Given the description of an element on the screen output the (x, y) to click on. 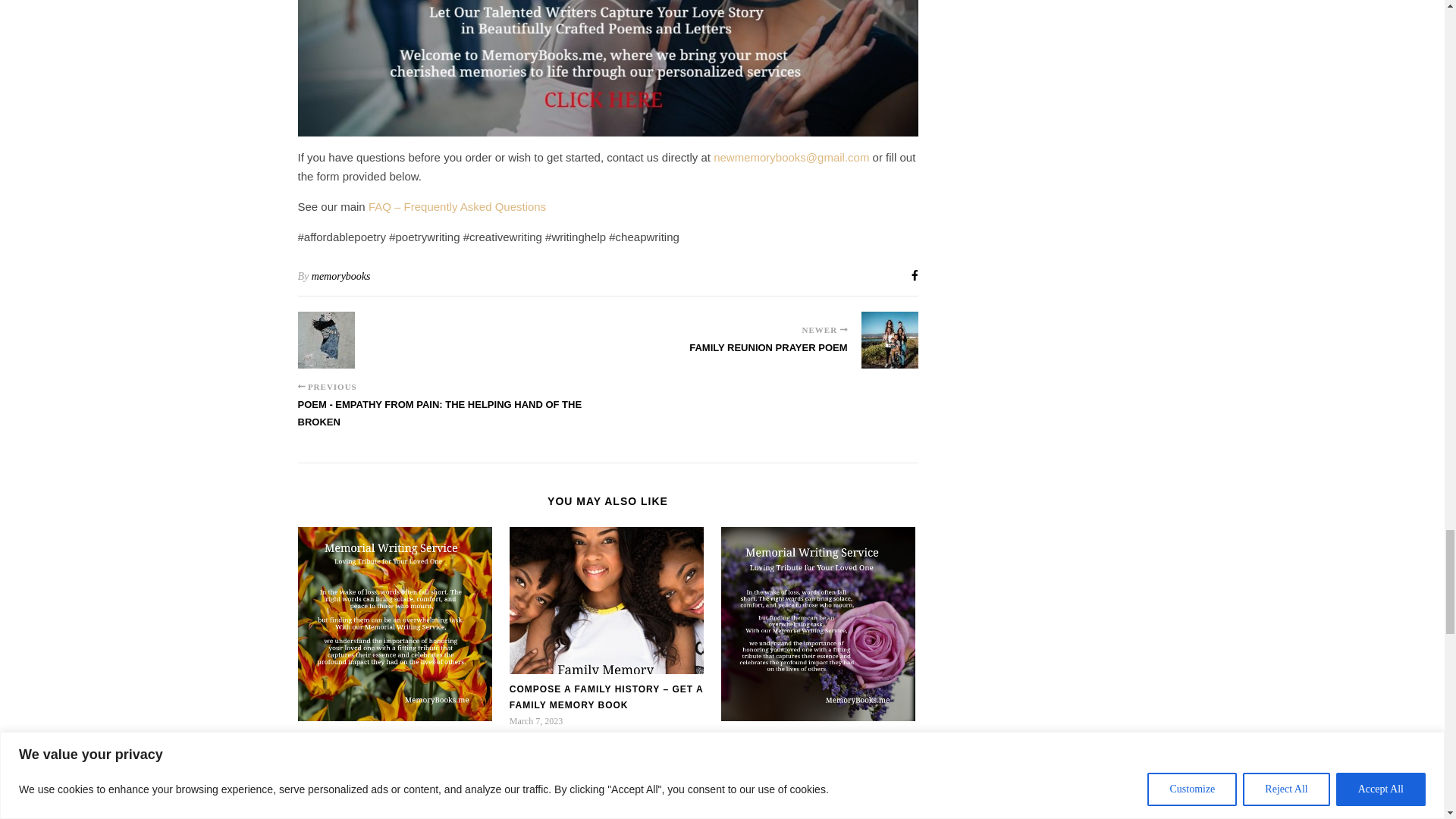
Family Reunion Prayer Poem (767, 355)
Poem - Empathy from Pain: The Helping Hand of the Broken (325, 340)
Family Reunion Prayer Poem (889, 340)
Posts by memorybooks (341, 276)
Poem - Empathy from Pain: The Helping Hand of the Broken (452, 420)
